Given the description of an element on the screen output the (x, y) to click on. 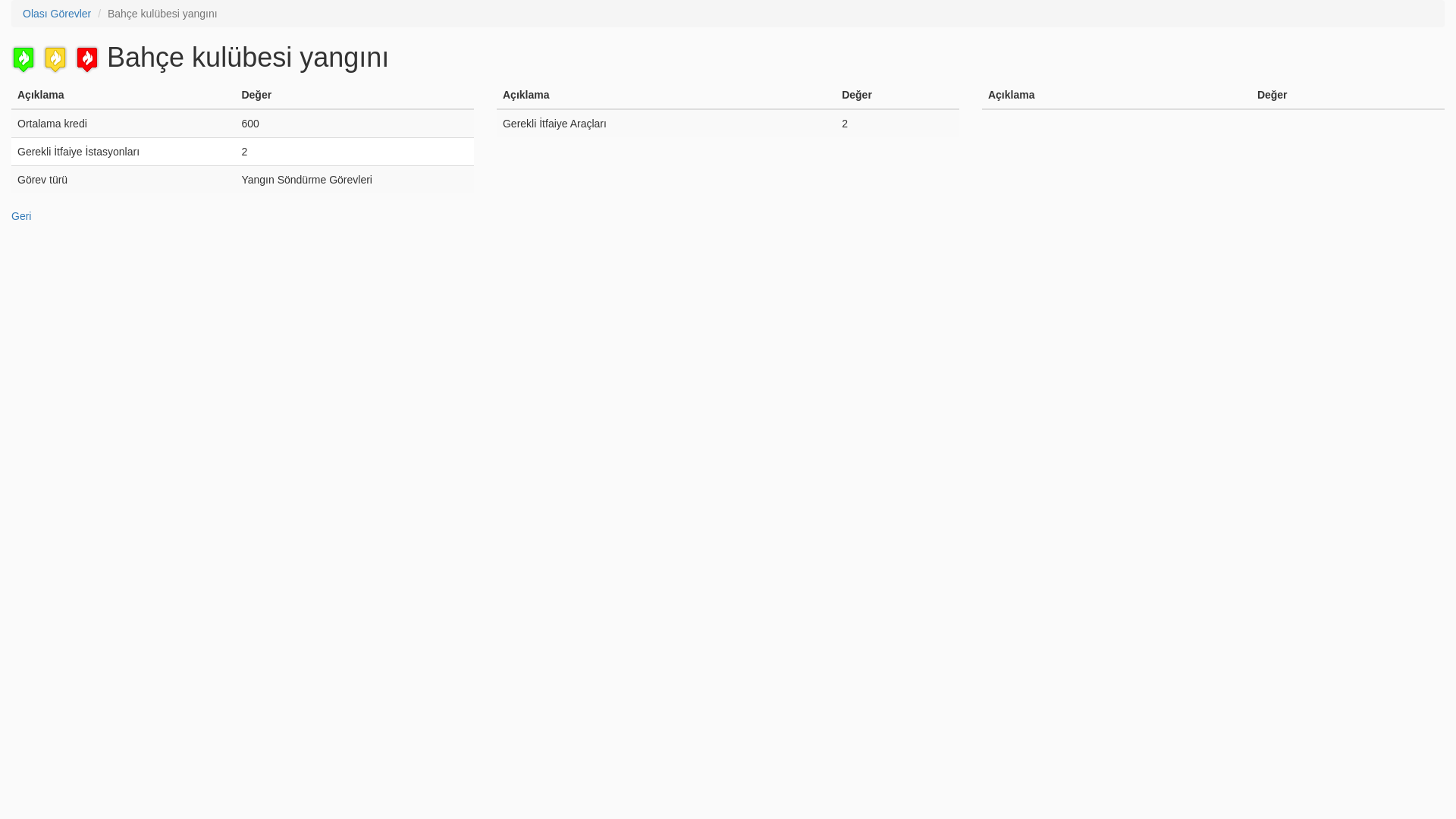
Geri Element type: text (21, 216)
